Given the description of an element on the screen output the (x, y) to click on. 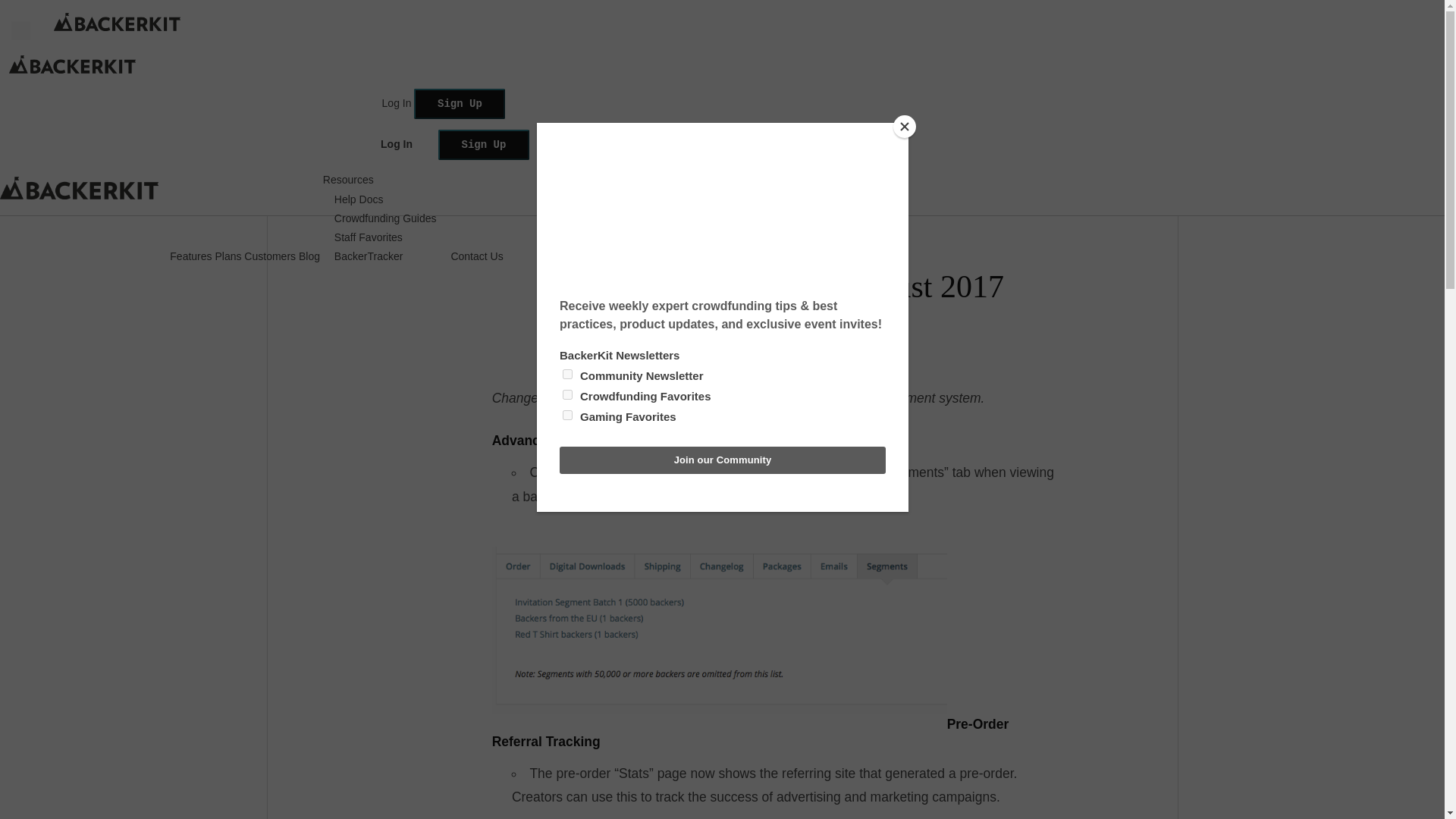
Sign Up (483, 144)
Crowdfunding Guides (385, 217)
Sign Up (459, 103)
Sign Up (706, 185)
Plans (227, 256)
Toggle navigation (20, 30)
Sign Up (483, 144)
Features (190, 256)
Blog (309, 256)
Sign Up (459, 103)
